Given the description of an element on the screen output the (x, y) to click on. 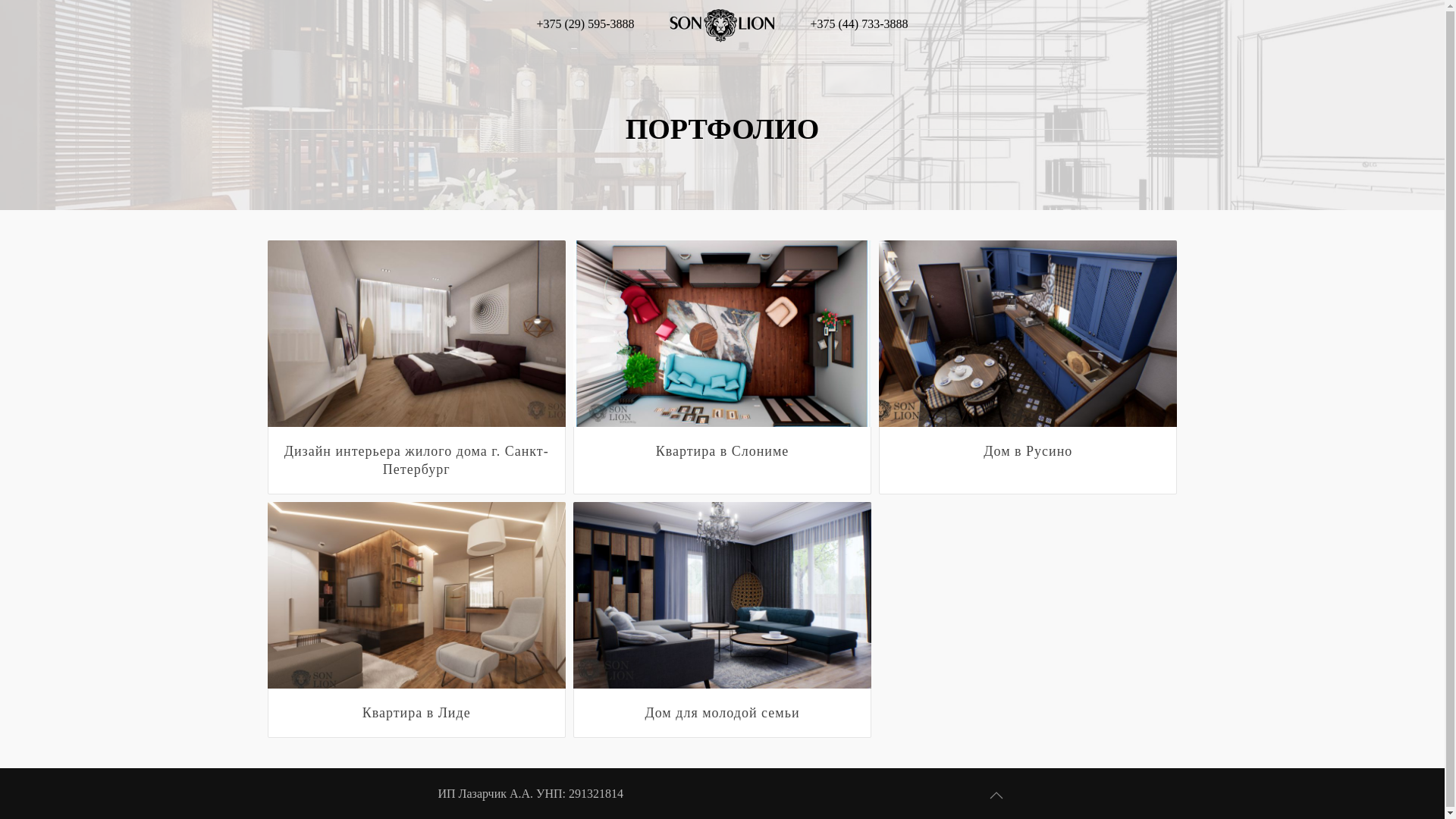
+375 (29) 595-3888 Element type: text (584, 24)
+375 (44) 733-3888 Element type: text (858, 24)
